Given the description of an element on the screen output the (x, y) to click on. 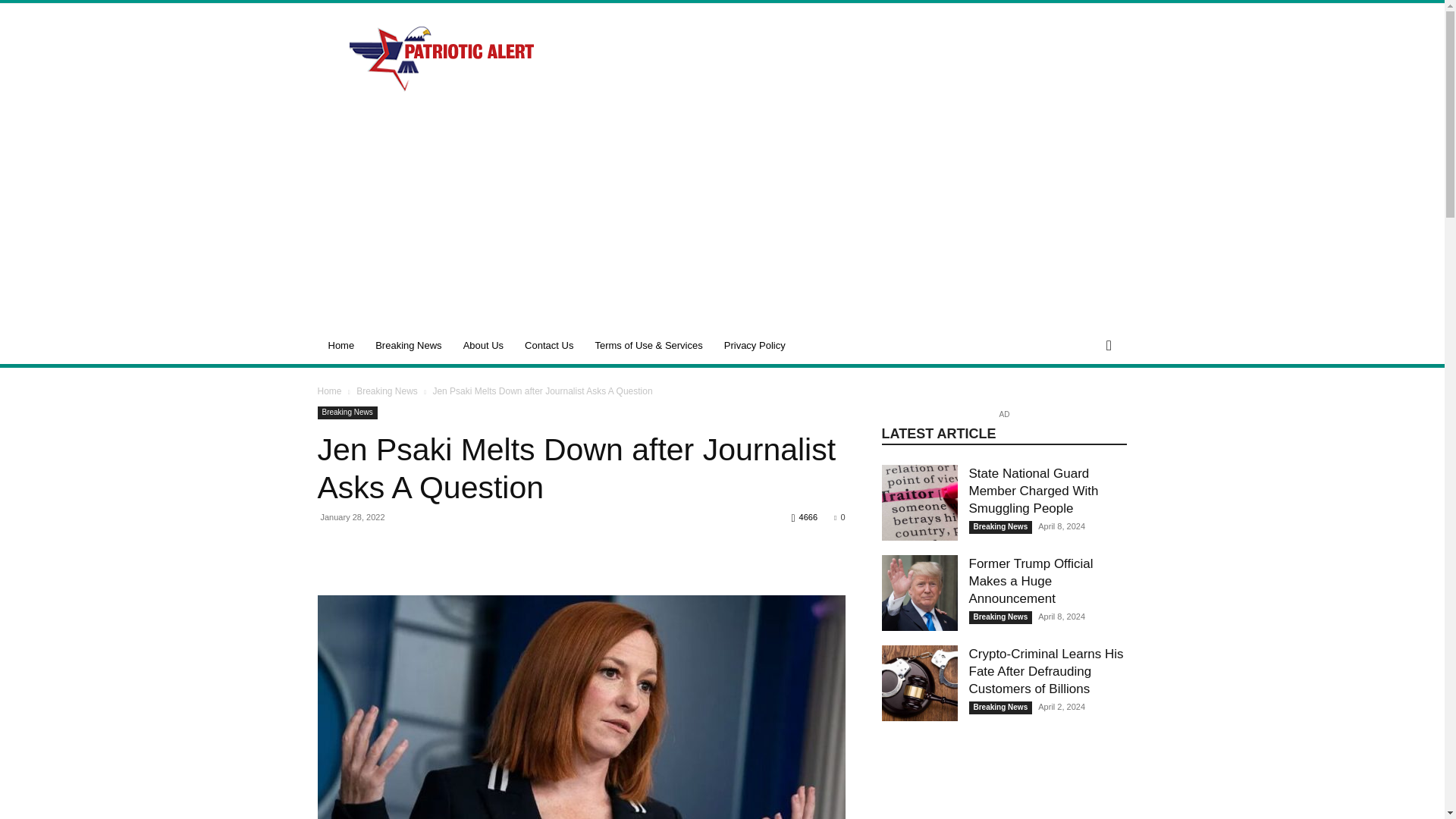
psakitoo-758x424-1 (580, 707)
Search (1083, 405)
Home (328, 390)
Privacy Policy (754, 345)
Breaking News (386, 390)
Breaking News (408, 345)
About Us (482, 345)
Patriotic Alert (445, 59)
0 (839, 516)
